Given the description of an element on the screen output the (x, y) to click on. 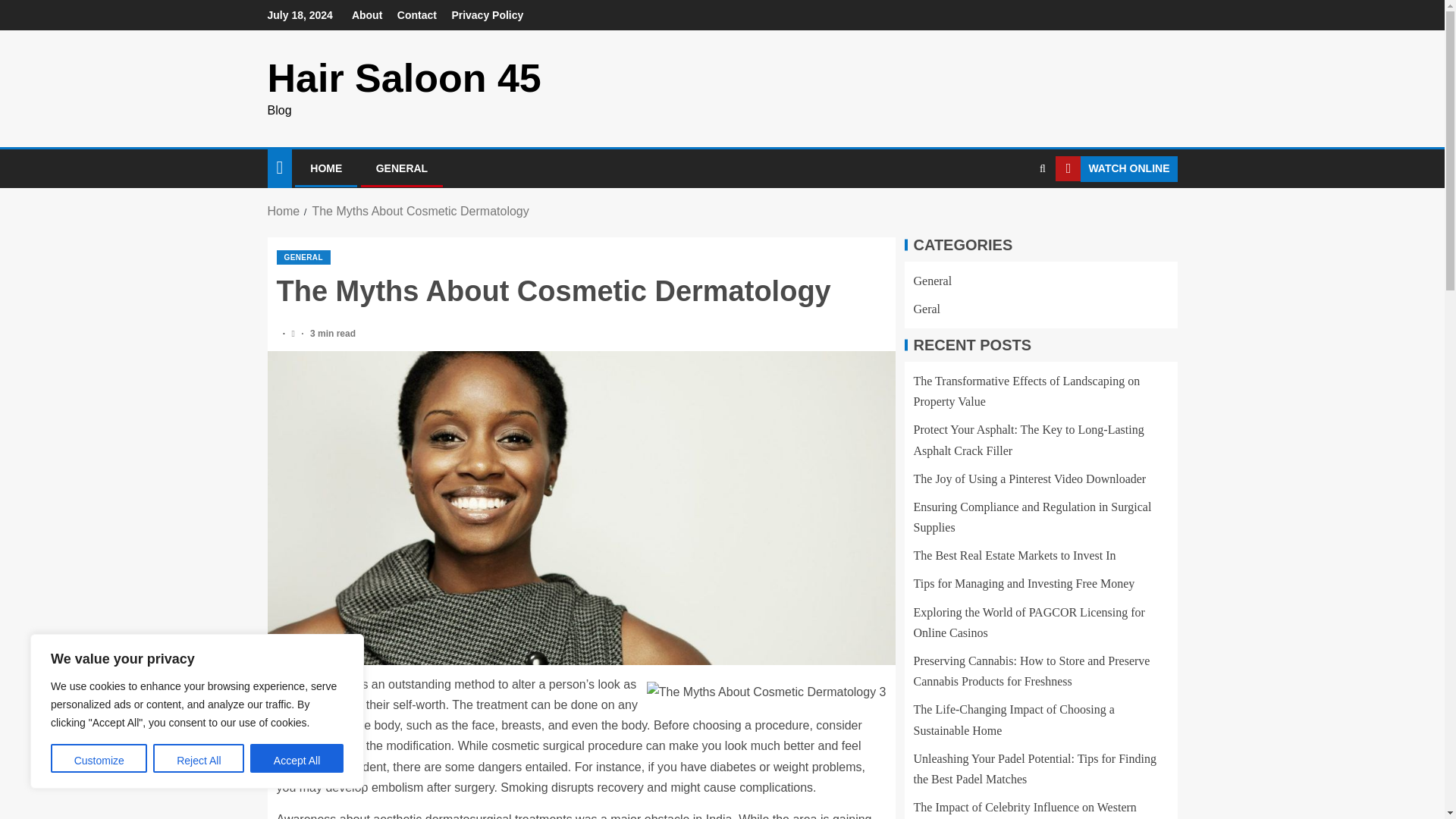
Reject All (198, 758)
Customize (98, 758)
Search (1041, 168)
HOME (326, 168)
GENERAL (401, 168)
The Myths About Cosmetic Dermatology (419, 210)
Home (282, 210)
Accept All (296, 758)
Contact (416, 15)
Hair Saloon 45 (403, 77)
About (366, 15)
Privacy Policy (486, 15)
GENERAL (303, 257)
WATCH ONLINE (1115, 168)
